Given the description of an element on the screen output the (x, y) to click on. 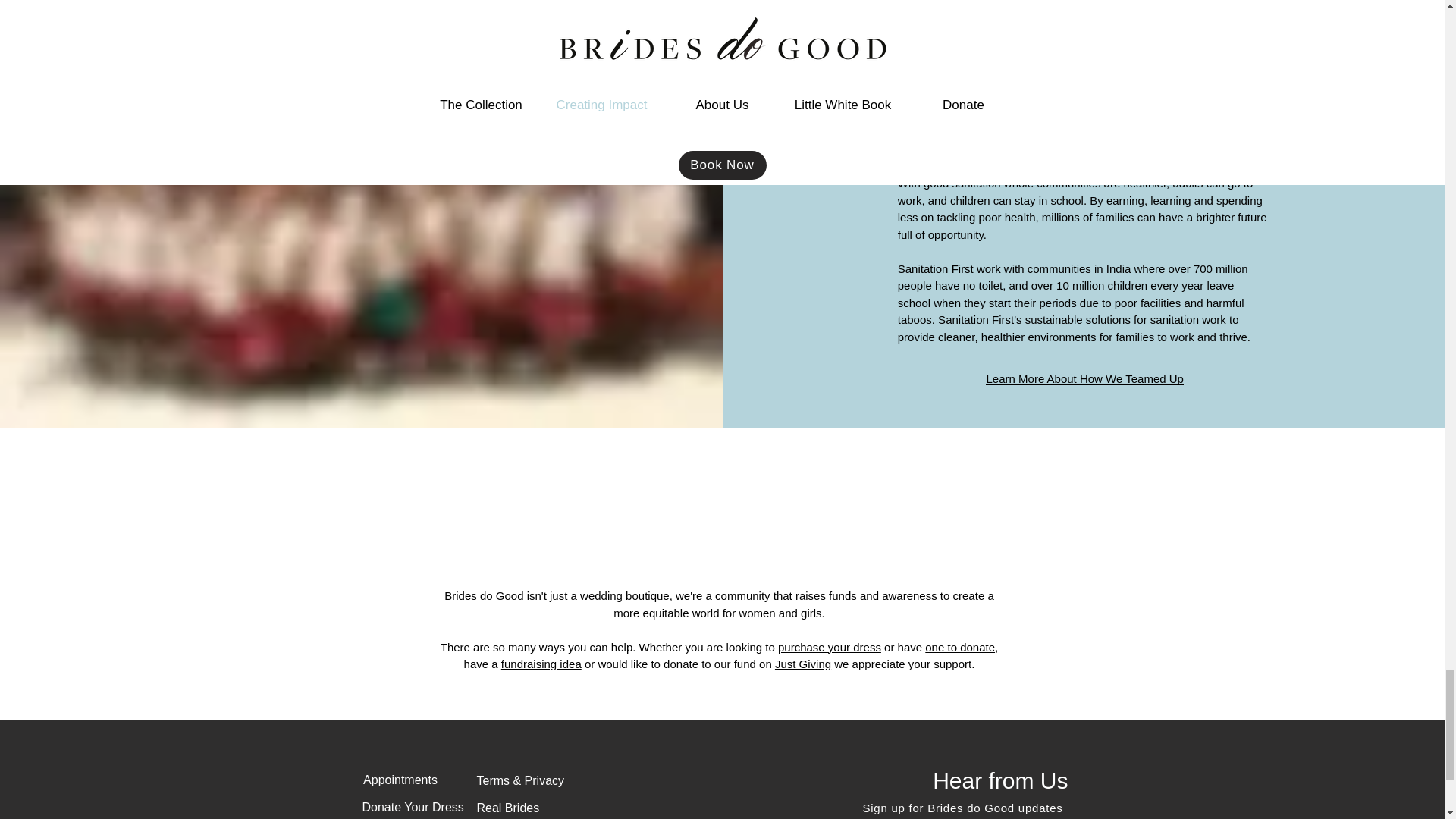
purchase your dress (828, 645)
Donate Your Dress (413, 803)
Real Brides (507, 803)
Appointments (400, 780)
fundraising idea (540, 663)
Contact (497, 816)
FAQs (377, 816)
Just Giving (802, 663)
one to donate (959, 645)
